Given the description of an element on the screen output the (x, y) to click on. 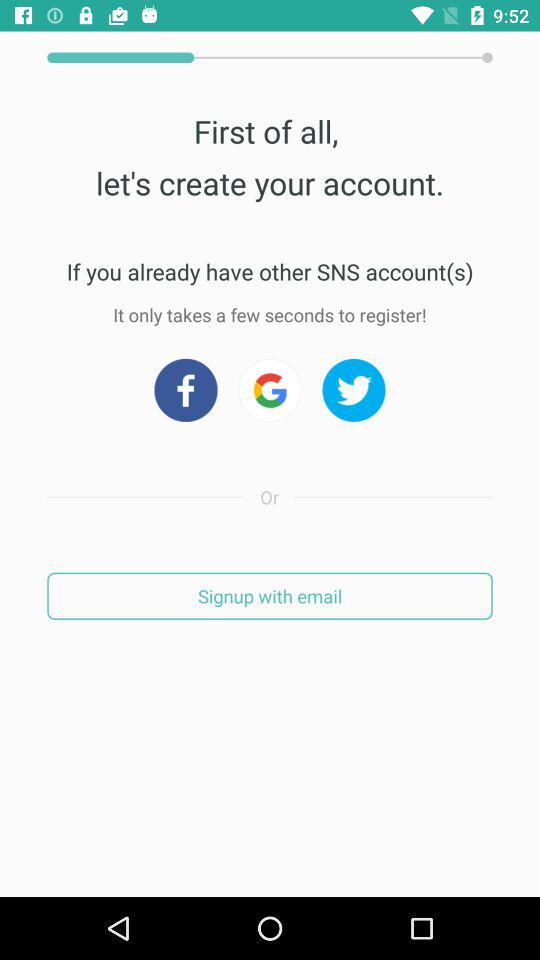
login with facebook (185, 389)
